Given the description of an element on the screen output the (x, y) to click on. 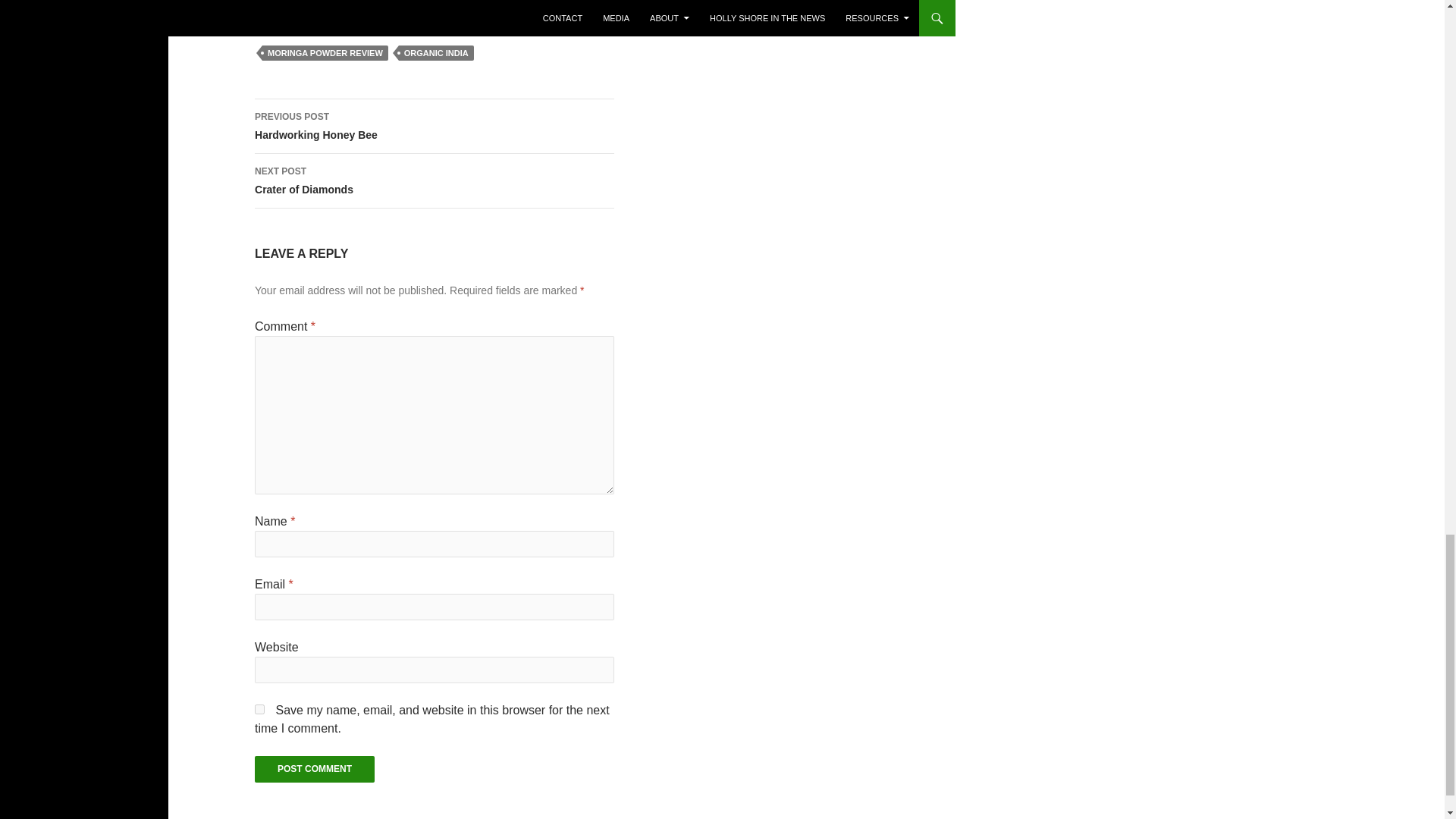
yes (259, 709)
Post Comment (314, 768)
